Given the description of an element on the screen output the (x, y) to click on. 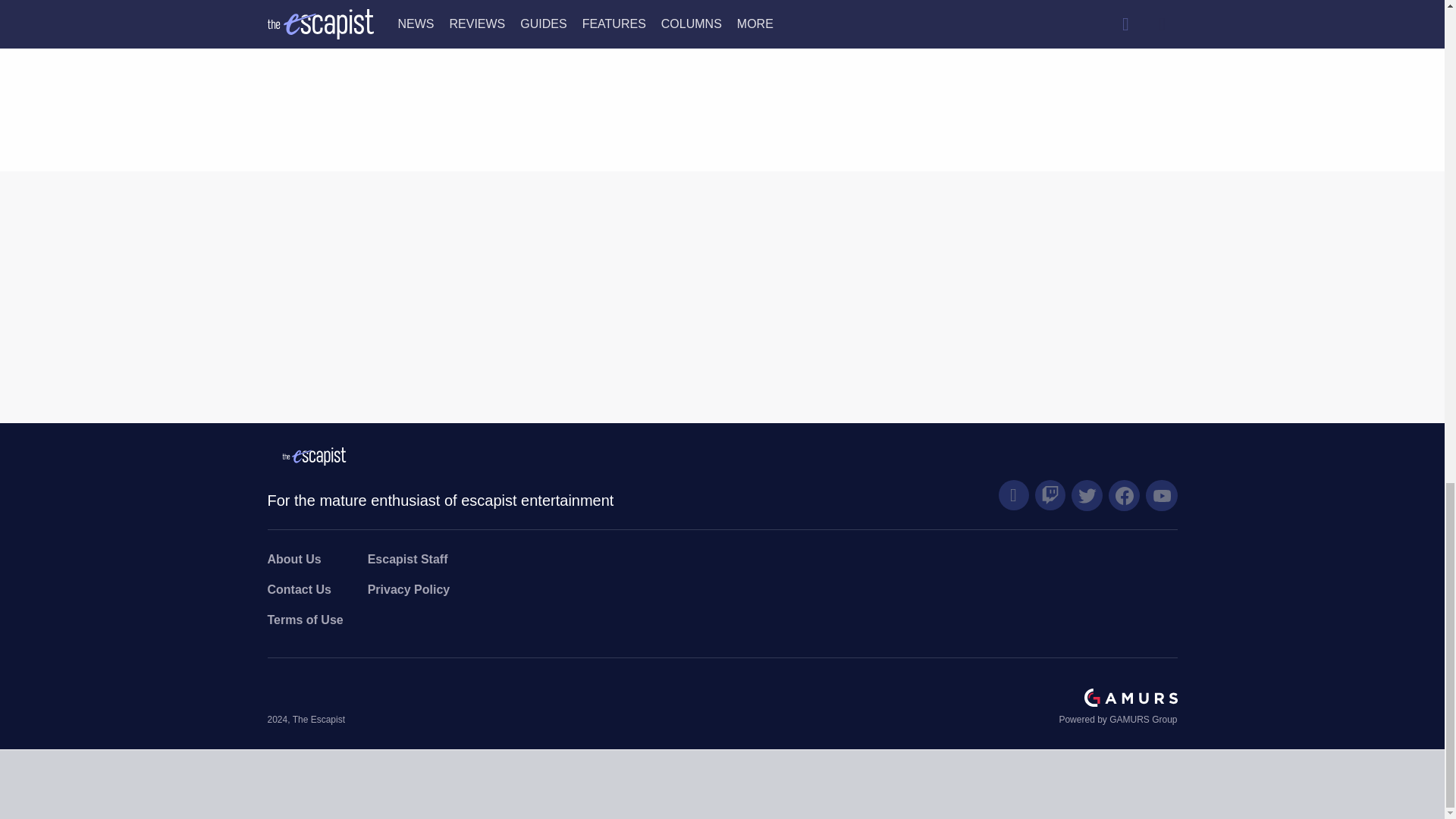
3rd party ad content (1024, 54)
